Given the description of an element on the screen output the (x, y) to click on. 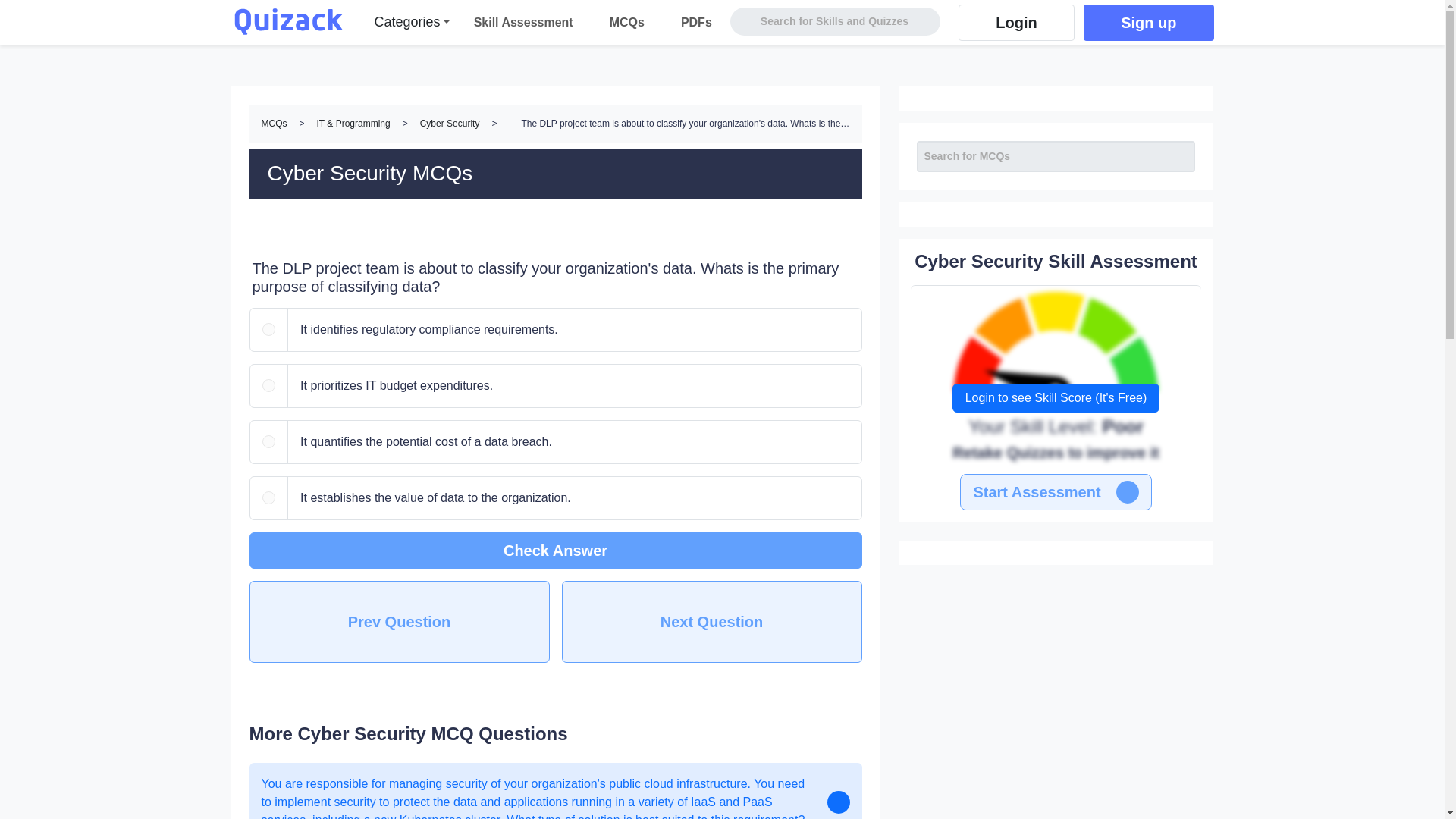
on (269, 386)
on (269, 498)
on (269, 329)
on (269, 441)
